Given the description of an element on the screen output the (x, y) to click on. 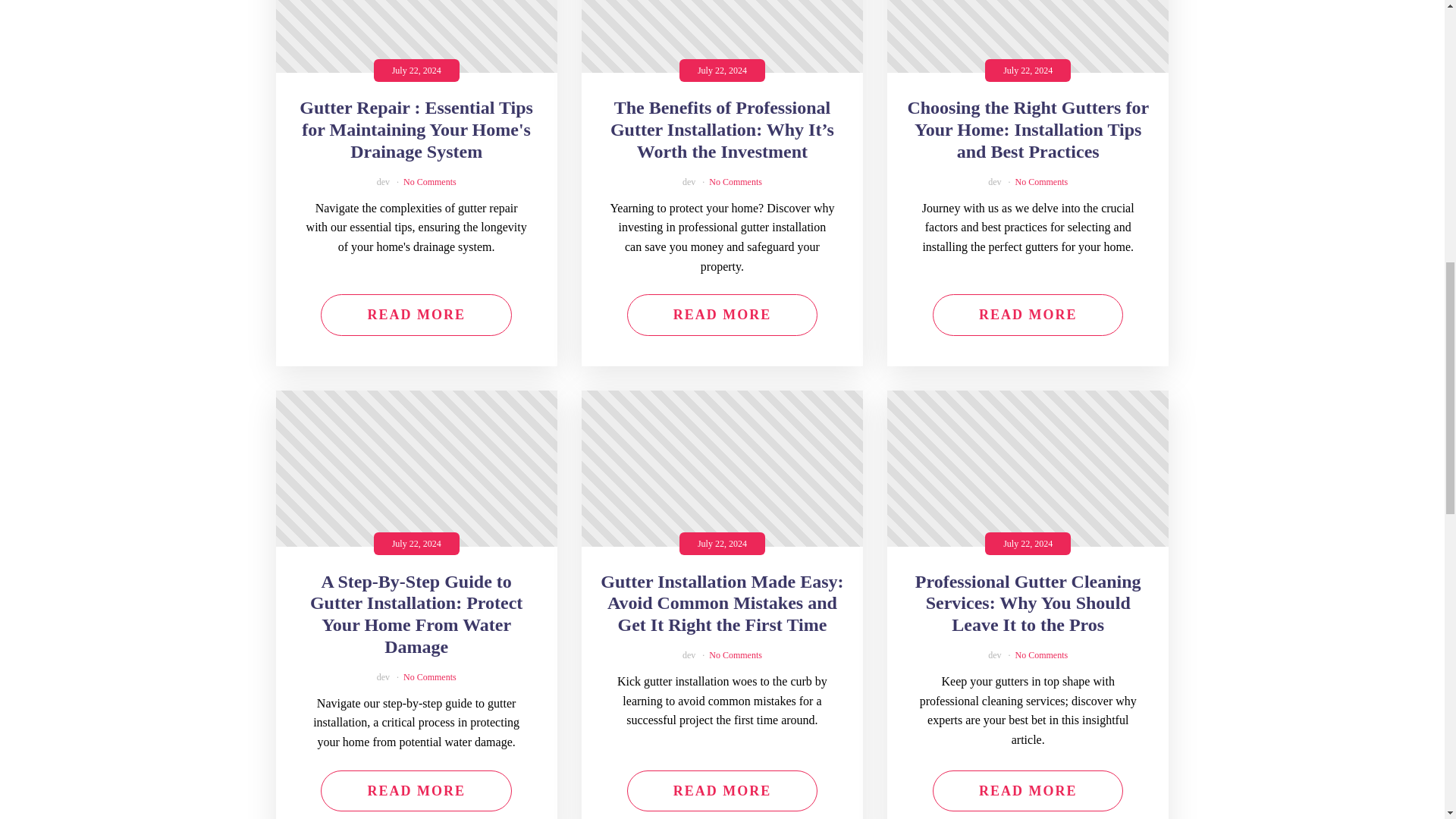
July 22, 2024 (416, 36)
July 22, 2024 (721, 36)
READ MORE (416, 314)
No Comments (430, 181)
